Given the description of an element on the screen output the (x, y) to click on. 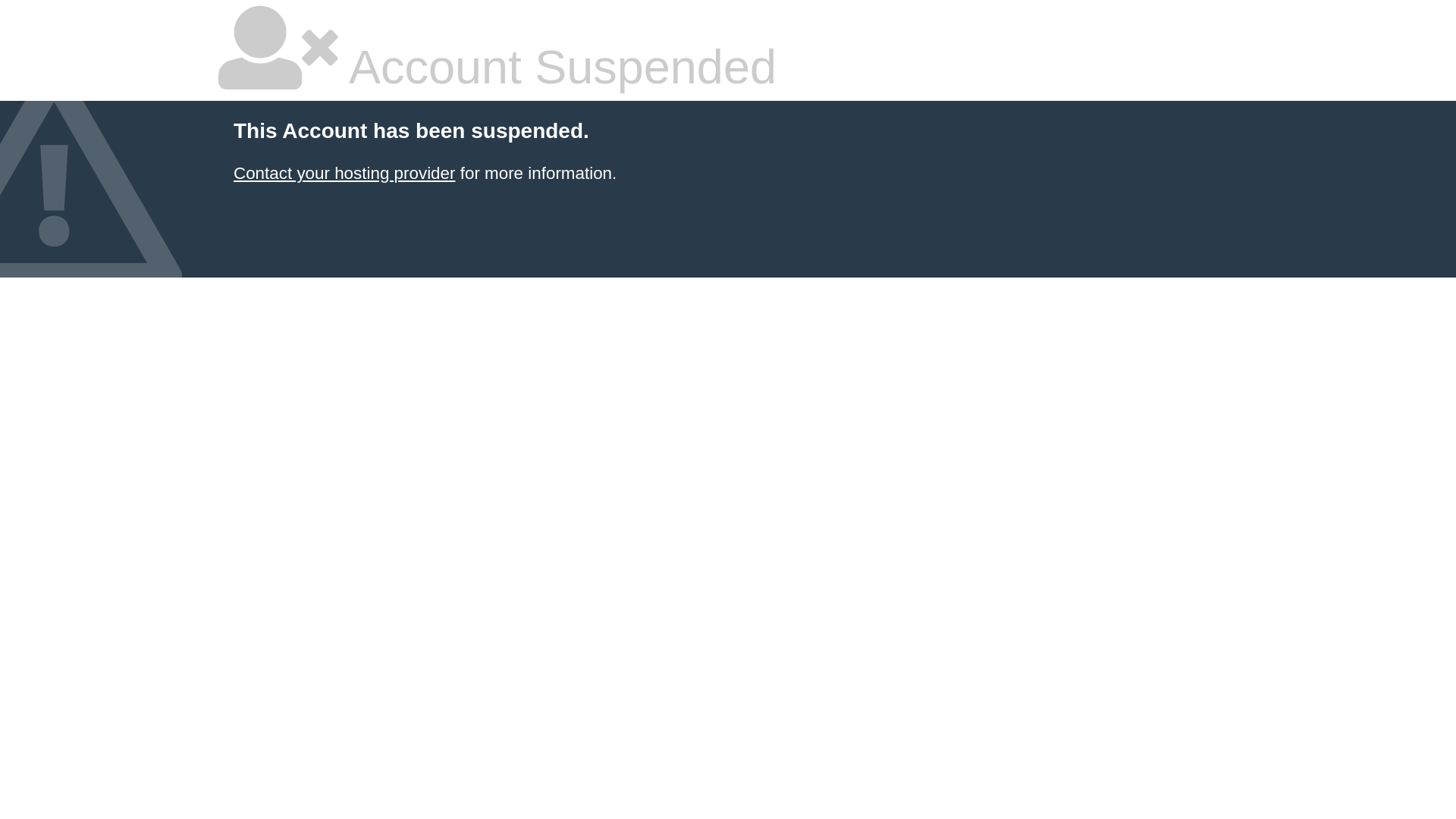
Contact your hosting provider Element type: text (344, 172)
